Given the description of an element on the screen output the (x, y) to click on. 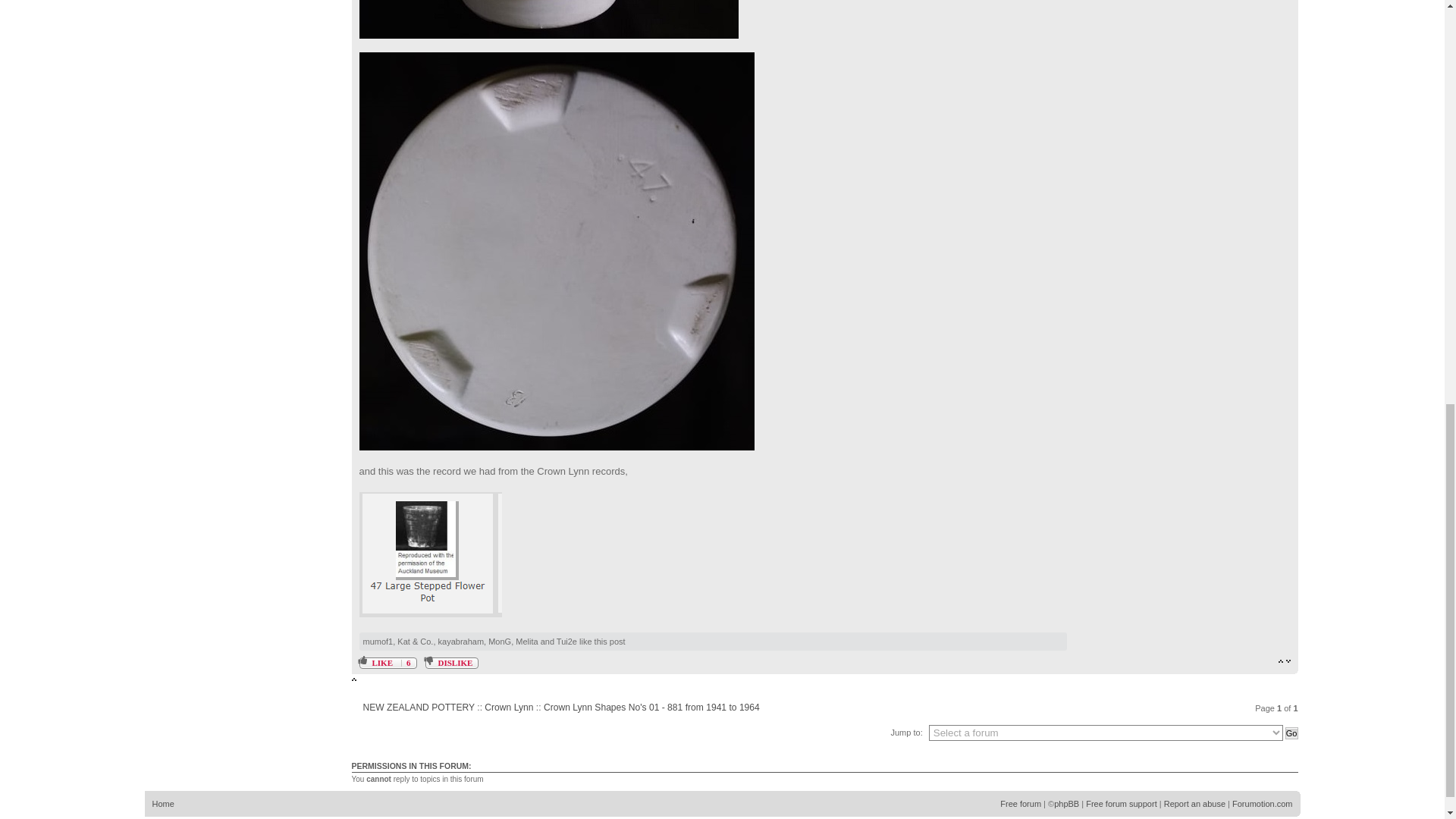
Crown Lynn (508, 706)
Go (1291, 733)
NEW ZEALAND POTTERY (418, 706)
LIKE6 (387, 663)
Crown Lynn Shapes No's 01 - 881 from 1941 to 1964 (651, 706)
DISLIKE (452, 663)
